Given the description of an element on the screen output the (x, y) to click on. 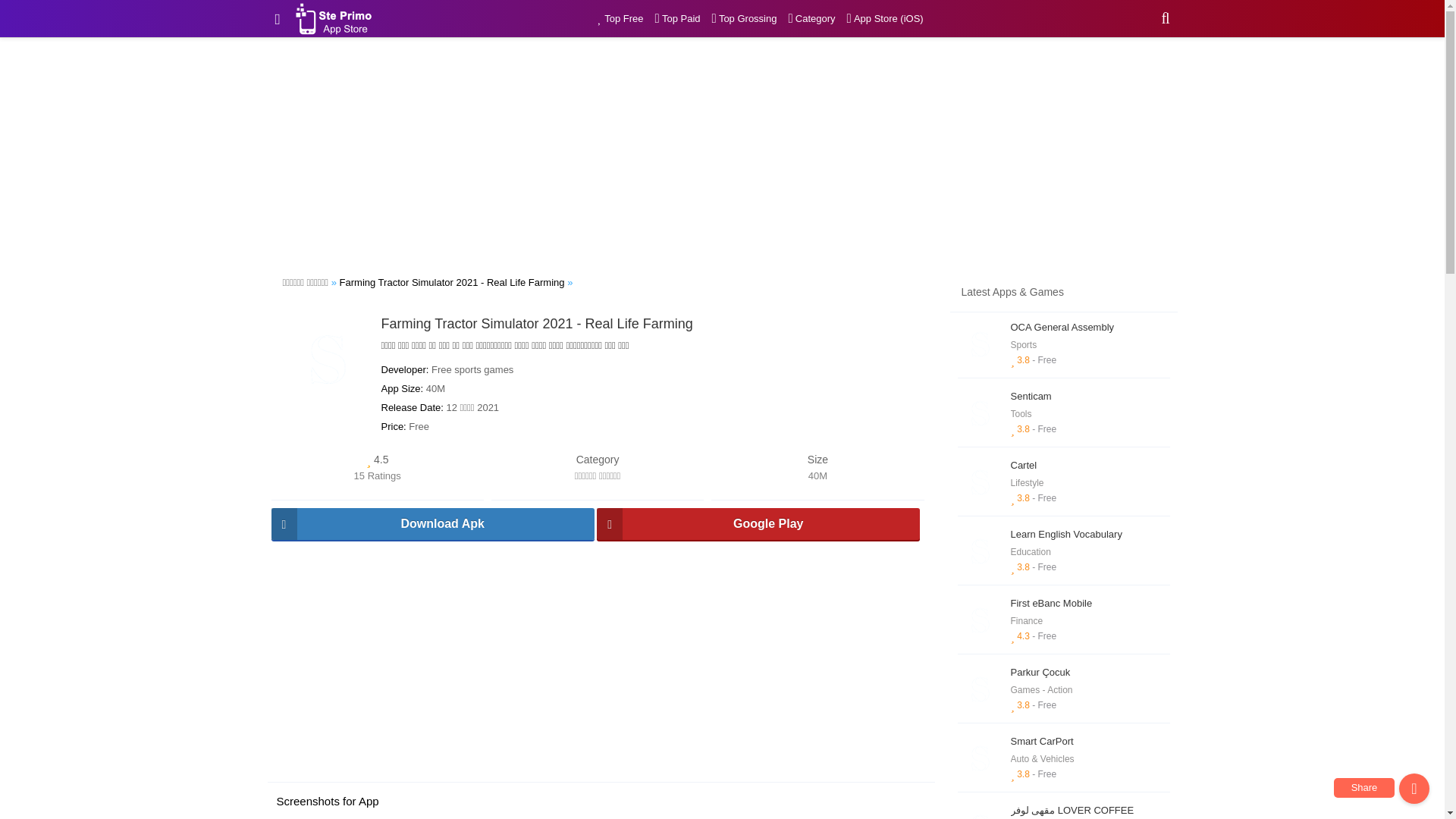
Top Grossing (750, 18)
Download Apk (433, 524)
Category (816, 18)
Free sports games (471, 369)
Top Paid (683, 18)
Google Play (758, 524)
Free sports games (471, 369)
Top Free (624, 18)
